Given the description of an element on the screen output the (x, y) to click on. 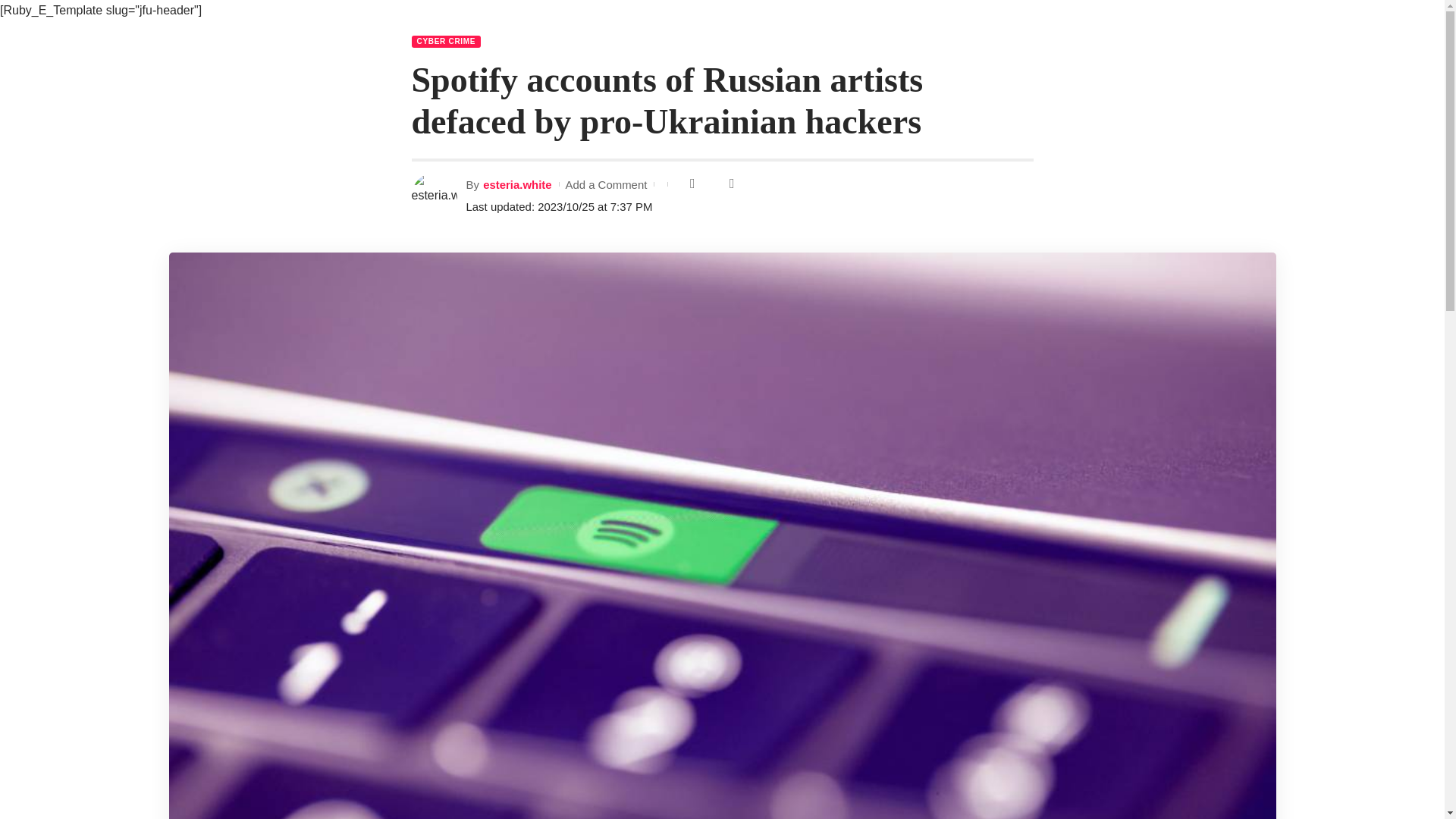
esteria.white (517, 184)
Add a Comment (605, 184)
CYBER CRIME (445, 41)
